Given the description of an element on the screen output the (x, y) to click on. 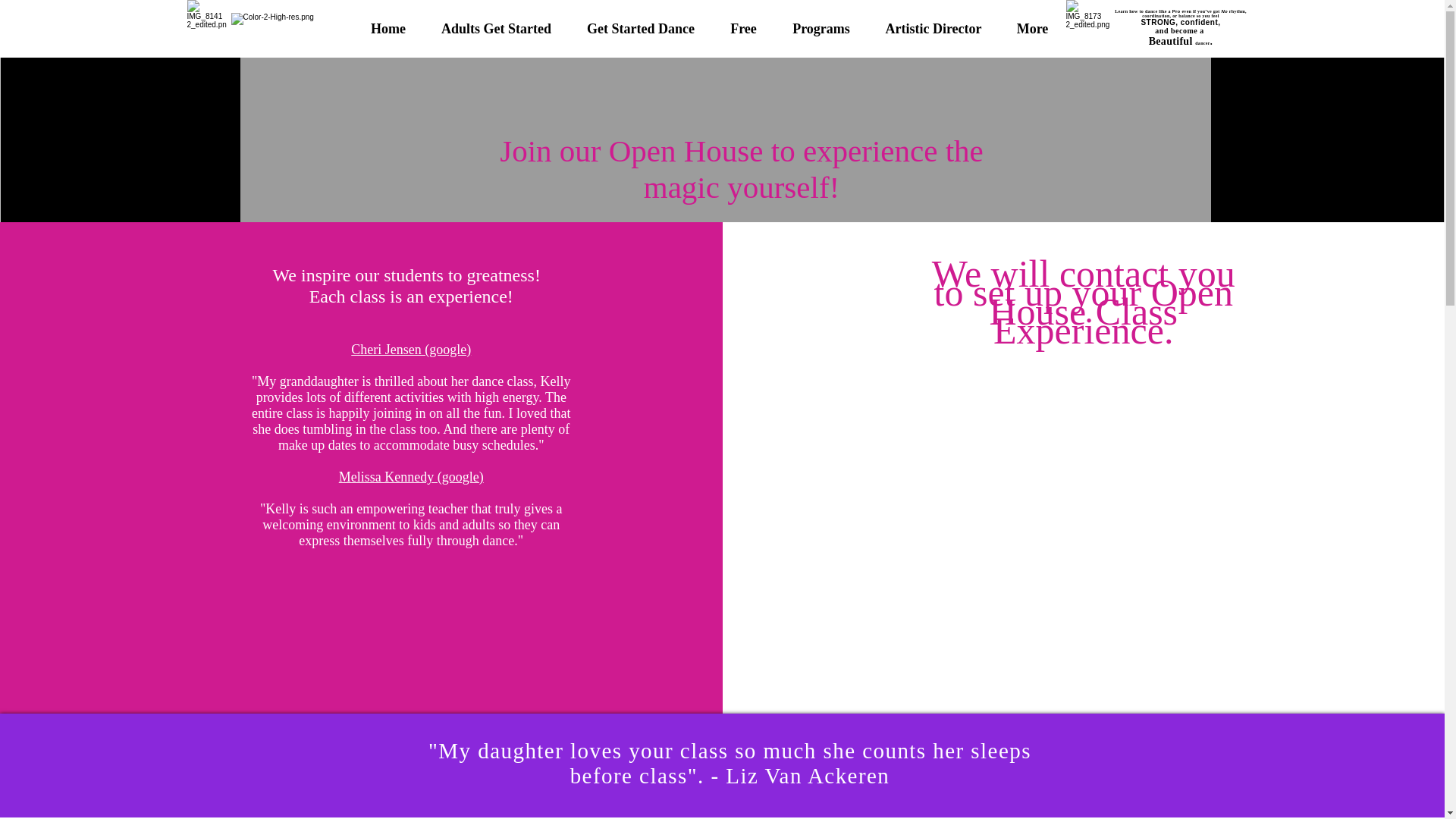
Home (388, 28)
Get Started Dance (640, 28)
Programs (820, 28)
Adults Get Started (496, 28)
Free (743, 28)
Artistic Director (932, 28)
